Given the description of an element on the screen output the (x, y) to click on. 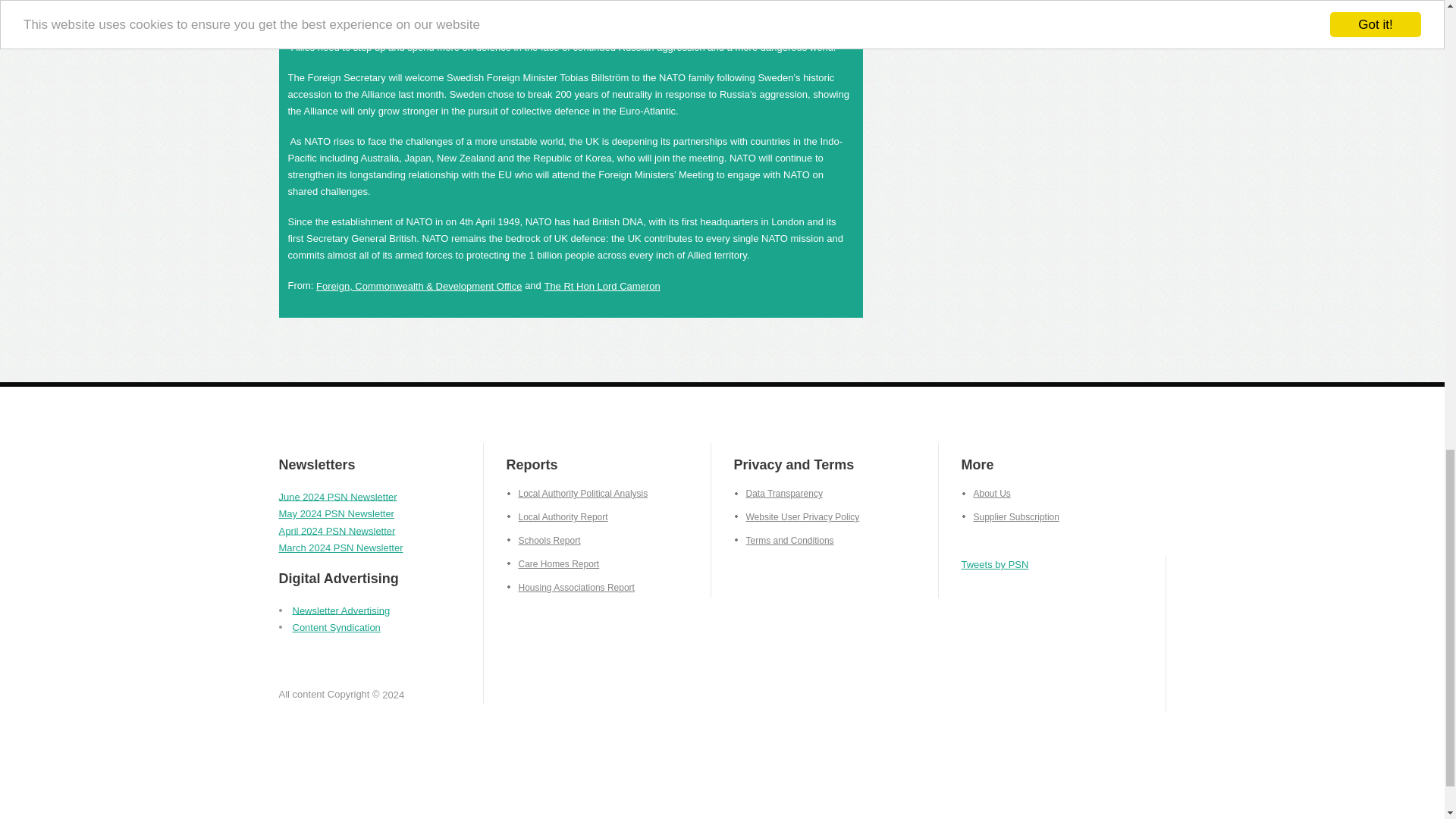
Housing Associations Report (570, 587)
About Us (985, 487)
May 2024 PSN Newsletter (336, 513)
Care Homes Report (552, 563)
Newsletter Advertising (341, 609)
The Rt Hon Lord Cameron (601, 277)
April 2024 PSN Newsletter (337, 530)
June 2024 PSN Newsletter (338, 496)
Tweets by PSN (994, 561)
Content Syndication (336, 627)
Website User Privacy Policy (796, 515)
Local Authority Political Analysis (576, 493)
Data Transparency (777, 491)
Local Authority Report (557, 516)
Terms and Conditions (783, 539)
